Given the description of an element on the screen output the (x, y) to click on. 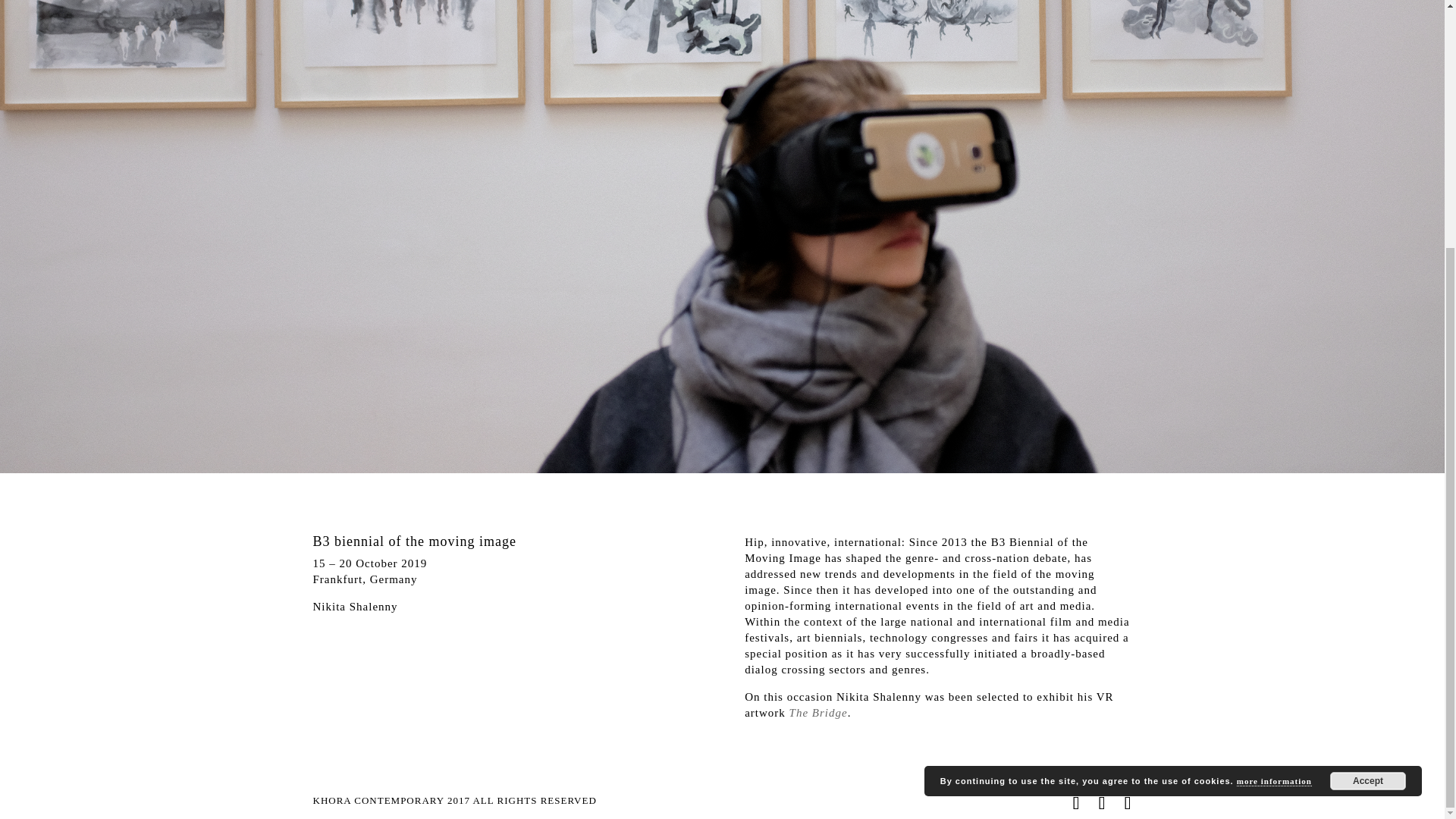
Accept (1368, 434)
The Bridge (818, 712)
more information (1273, 435)
